Given the description of an element on the screen output the (x, y) to click on. 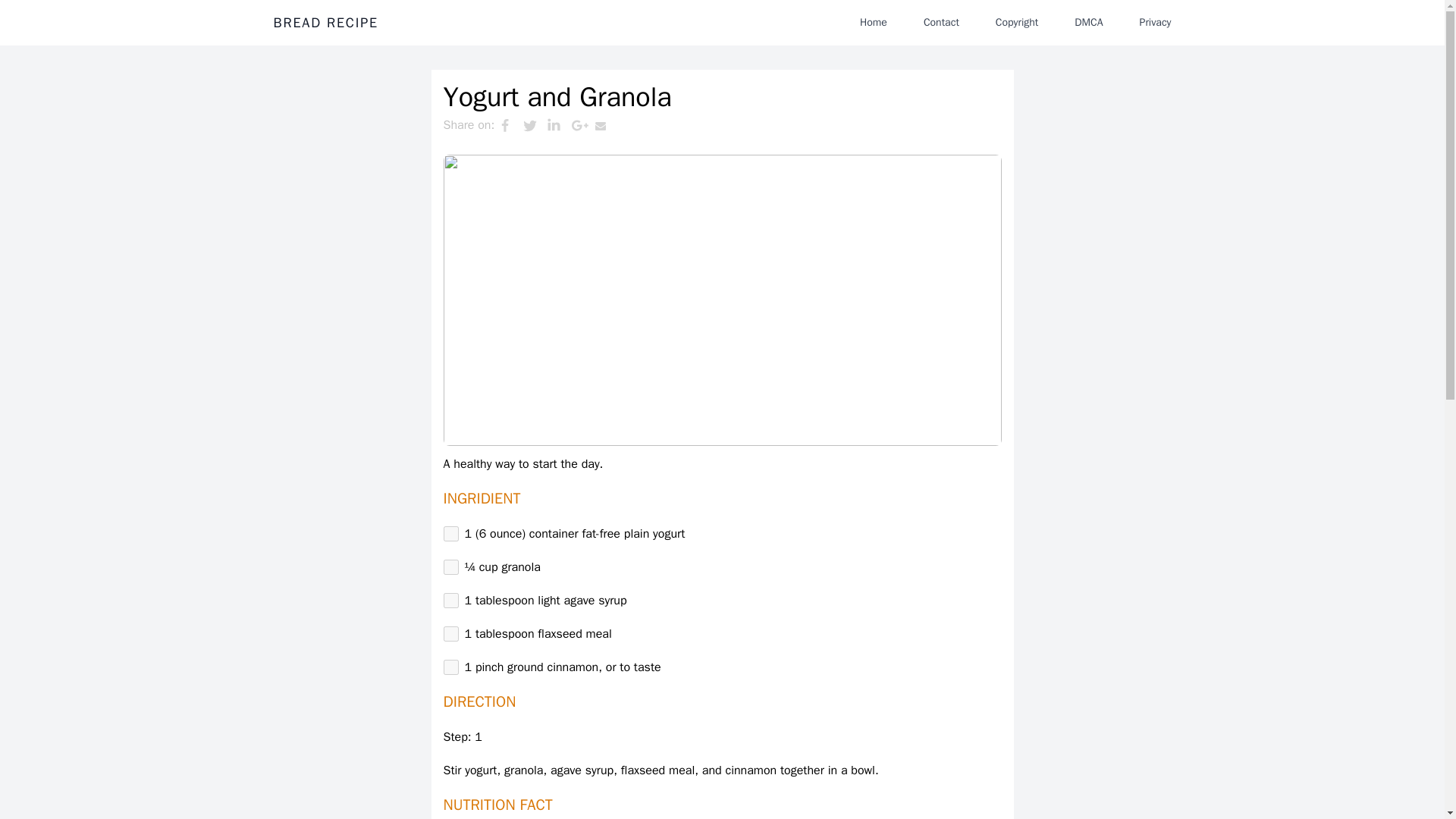
Copyright (1016, 22)
BREAD RECIPE (325, 22)
on (450, 566)
on (450, 533)
Home (873, 22)
on (450, 600)
on (450, 633)
Share this on Linkedin (558, 125)
Privacy (1154, 22)
DMCA (1088, 22)
